Given the description of an element on the screen output the (x, y) to click on. 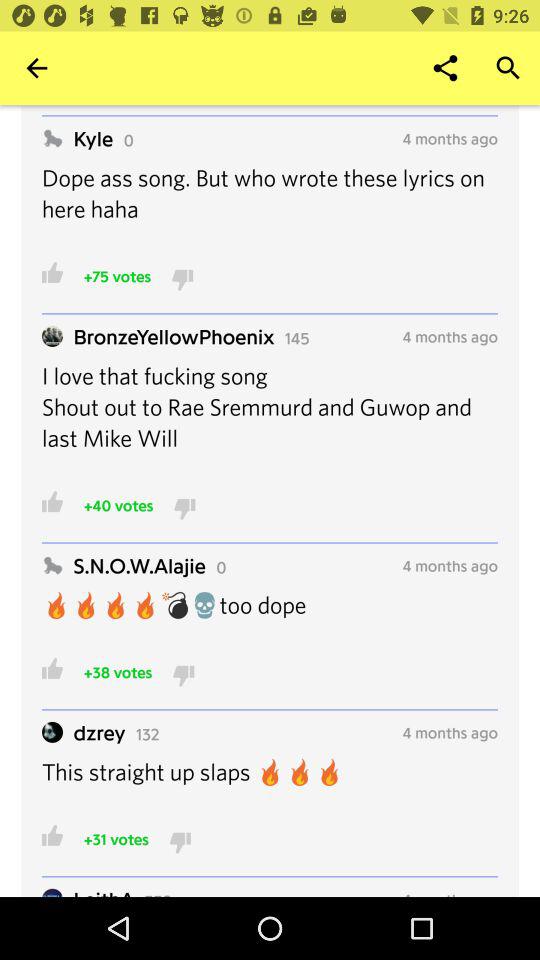
open the +75 votes (117, 275)
